Given the description of an element on the screen output the (x, y) to click on. 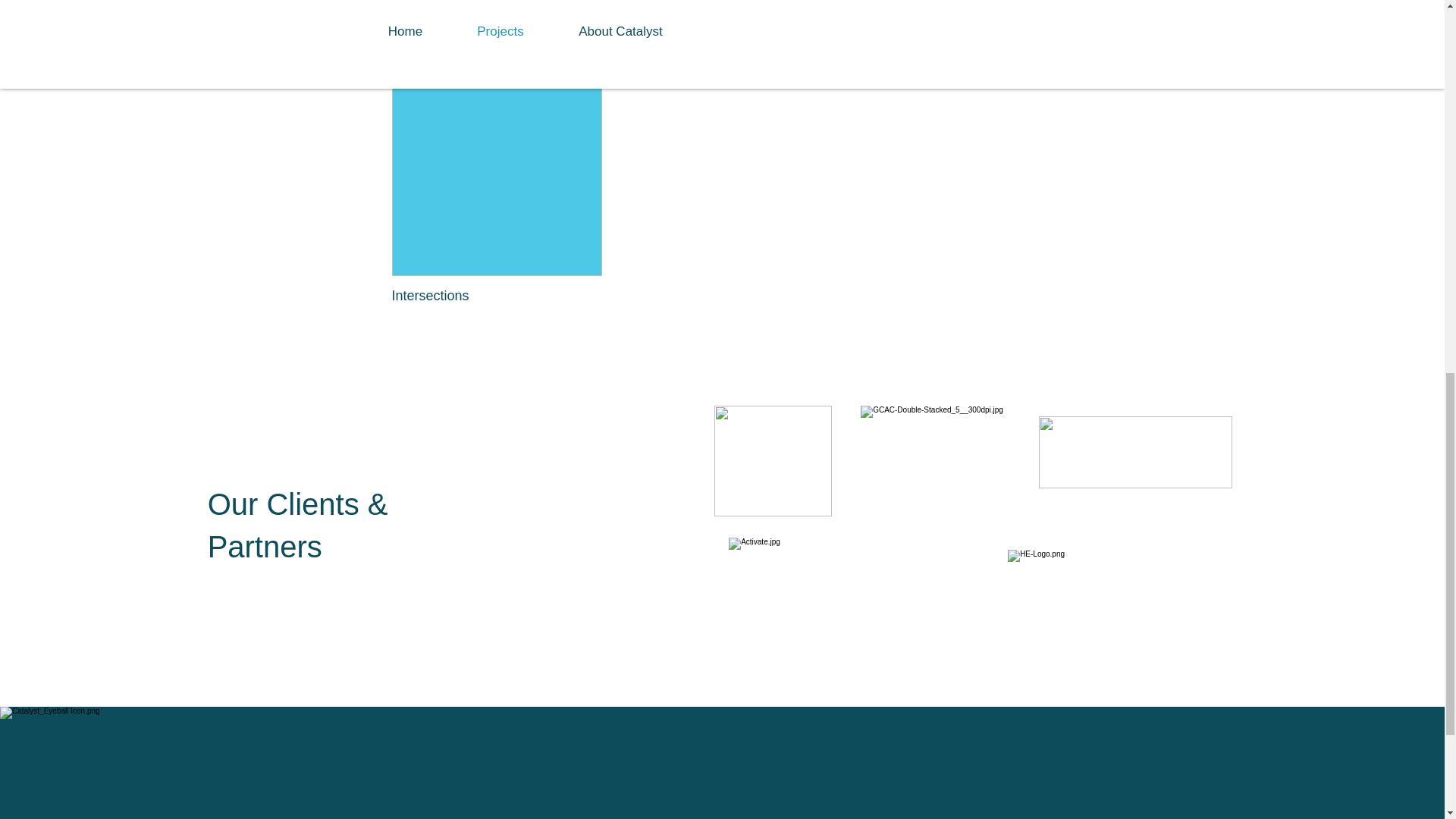
Untitled.jpg (772, 460)
